Given the description of an element on the screen output the (x, y) to click on. 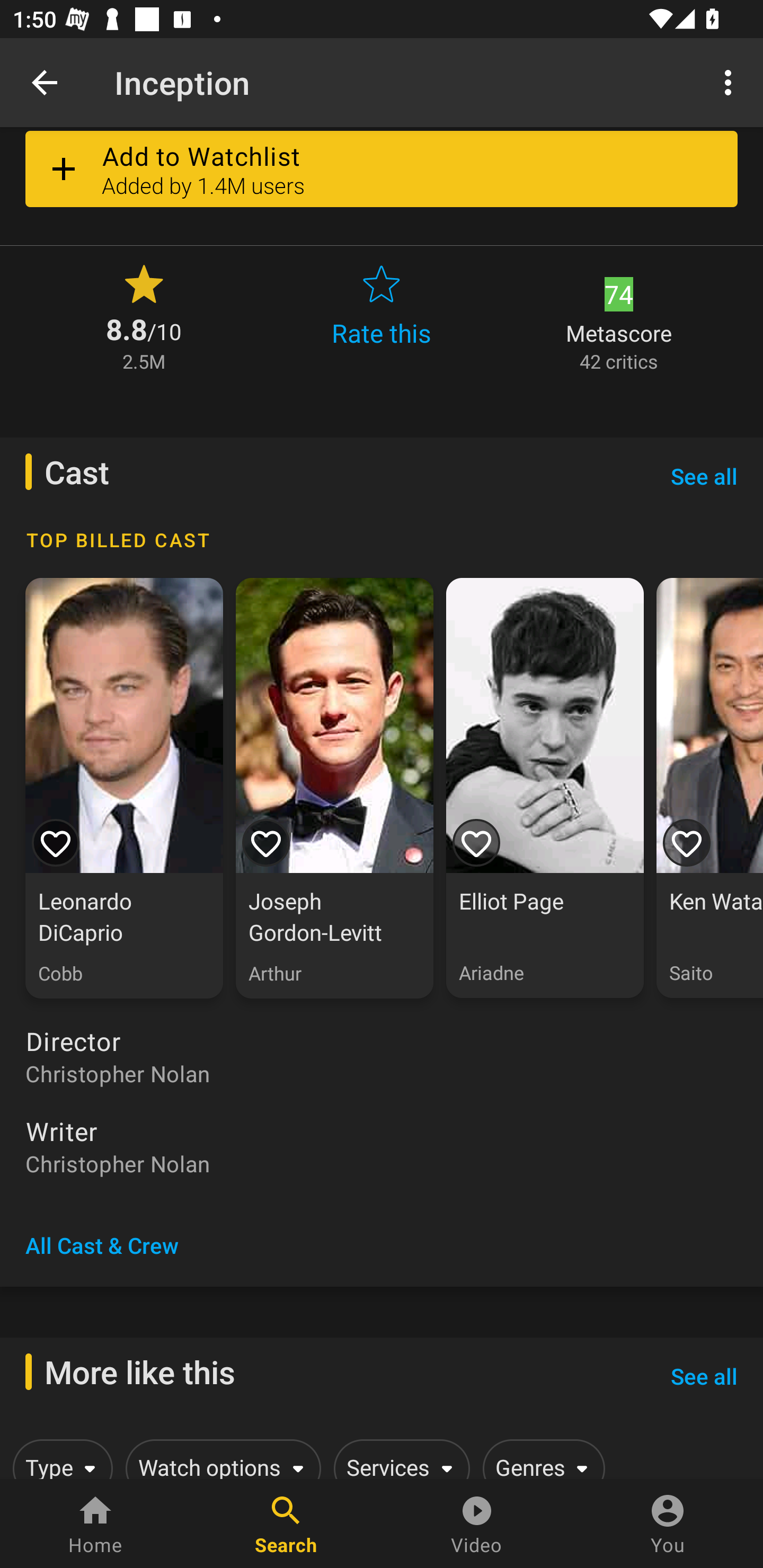
More options (731, 81)
Add to Watchlist Added by 1.4M users (381, 173)
8.8 /10 2.5M (143, 316)
Rate this (381, 316)
74 Metascore 42 critics (618, 316)
See all See all Cast (703, 475)
Leonardo DiCaprio Cobb (123, 788)
Joseph Gordon-Levitt Arthur (334, 788)
Elliot Page Ariadne (544, 787)
Christopher Nolan (381, 1073)
Christopher Nolan (381, 1163)
All Cast & Crew (101, 1244)
See all See all More like this (703, 1375)
Type (59, 1458)
Watch options (219, 1458)
Services (398, 1458)
Genres (540, 1458)
Home (95, 1523)
Video (476, 1523)
You (667, 1523)
